Given the description of an element on the screen output the (x, y) to click on. 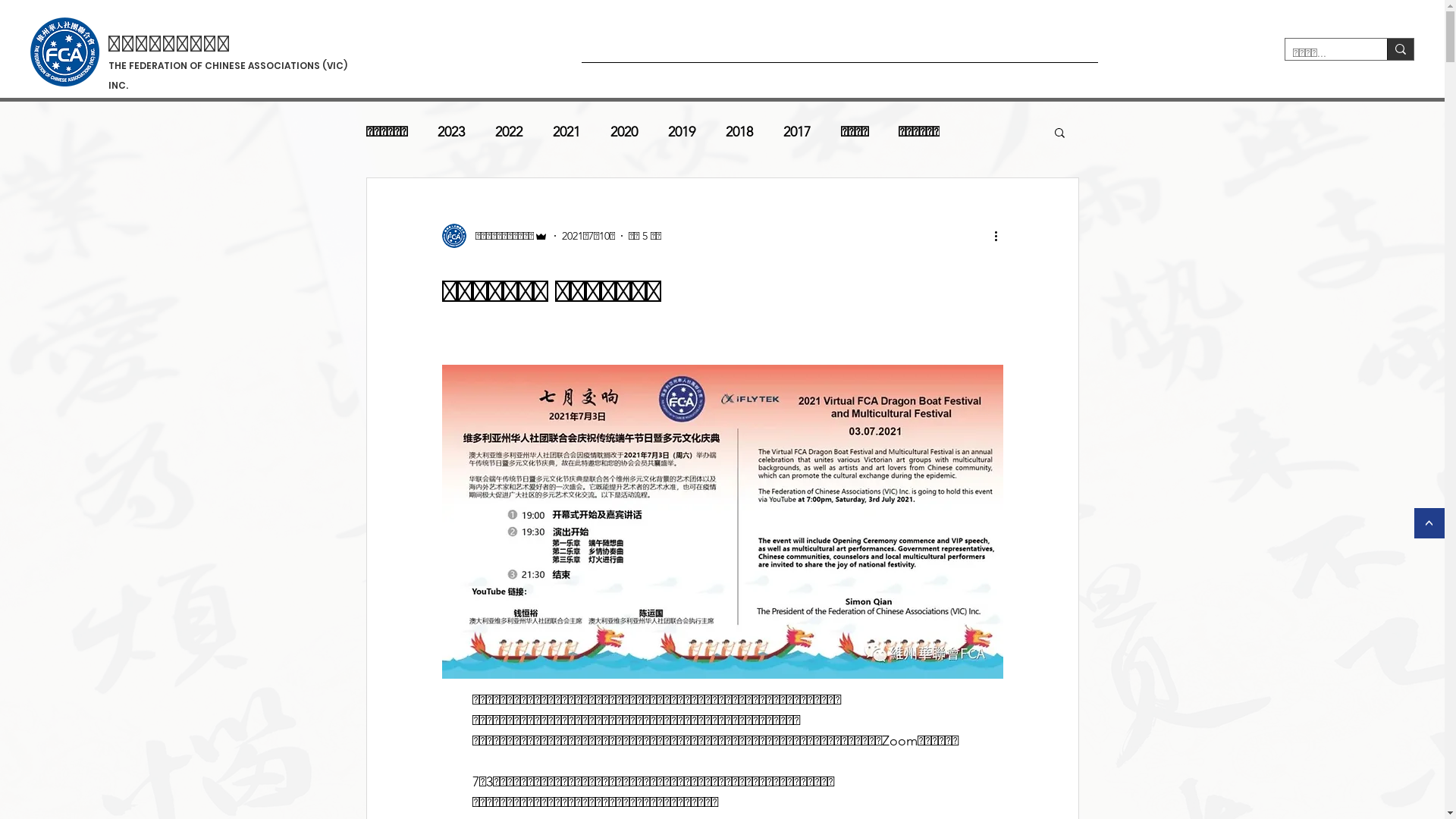
2023 Element type: text (450, 131)
2020 Element type: text (623, 131)
THE FEDERATION OF CHINESE ASSOCIATIONS (VIC) INC. Element type: text (227, 75)
> Element type: text (1429, 523)
2022 Element type: text (507, 131)
2018 Element type: text (738, 131)
2019 Element type: text (680, 131)
2017 Element type: text (795, 131)
2021 Element type: text (565, 131)
